Given the description of an element on the screen output the (x, y) to click on. 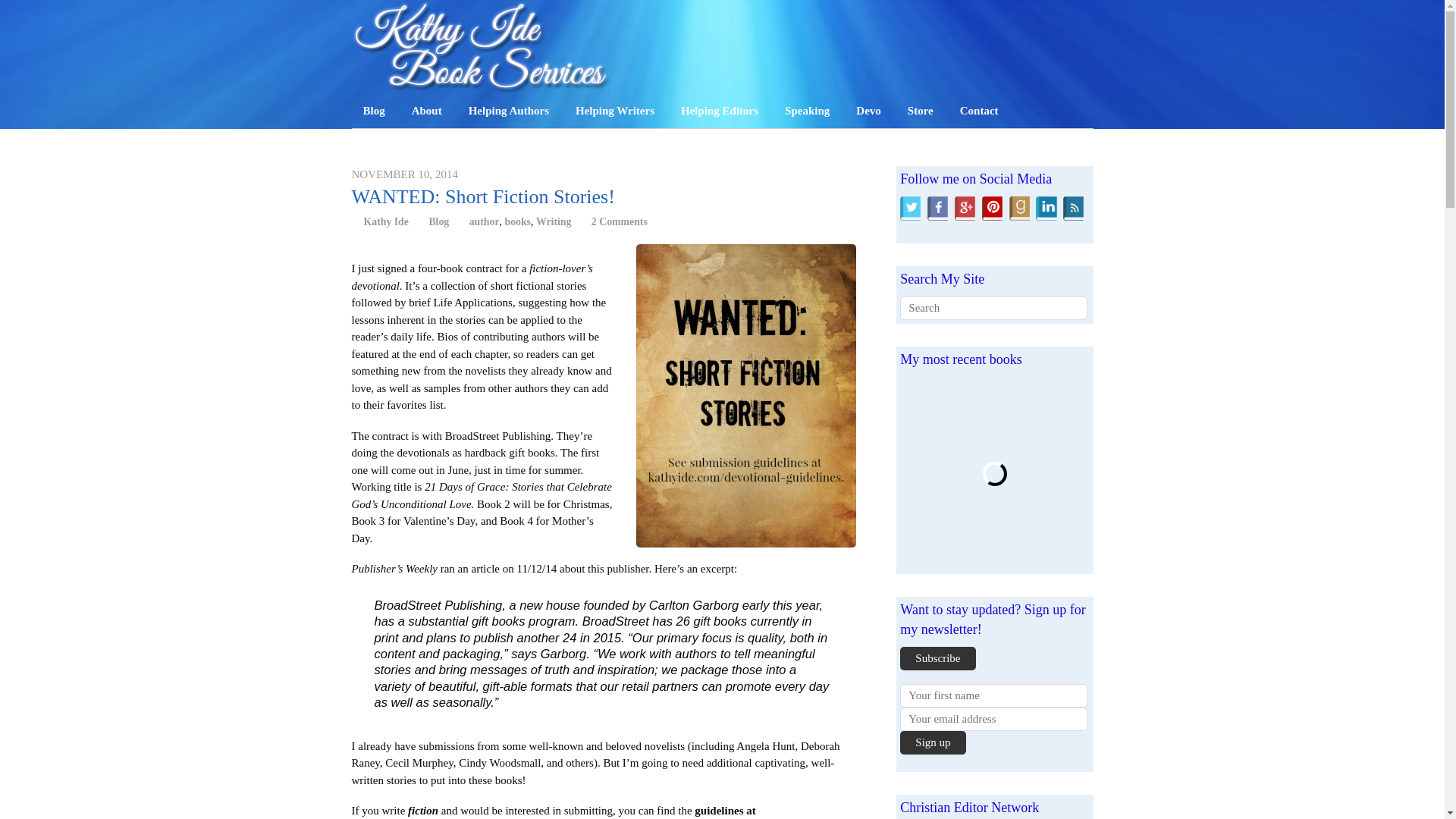
Speaking (807, 110)
Kathy Ide Writing and Editing Services (482, 47)
Sign up (932, 742)
Facebook (937, 207)
Devo (868, 110)
Helping Authors (508, 110)
About (426, 110)
books (517, 221)
RSS (1072, 207)
Kathy Ide Writing and Editing Services (482, 84)
